Given the description of an element on the screen output the (x, y) to click on. 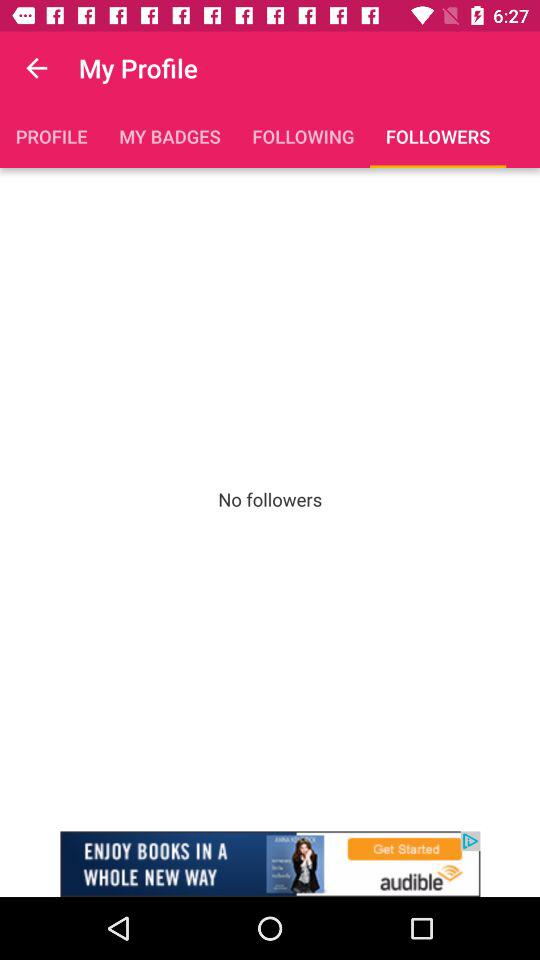
advertisement link banner (270, 864)
